Given the description of an element on the screen output the (x, y) to click on. 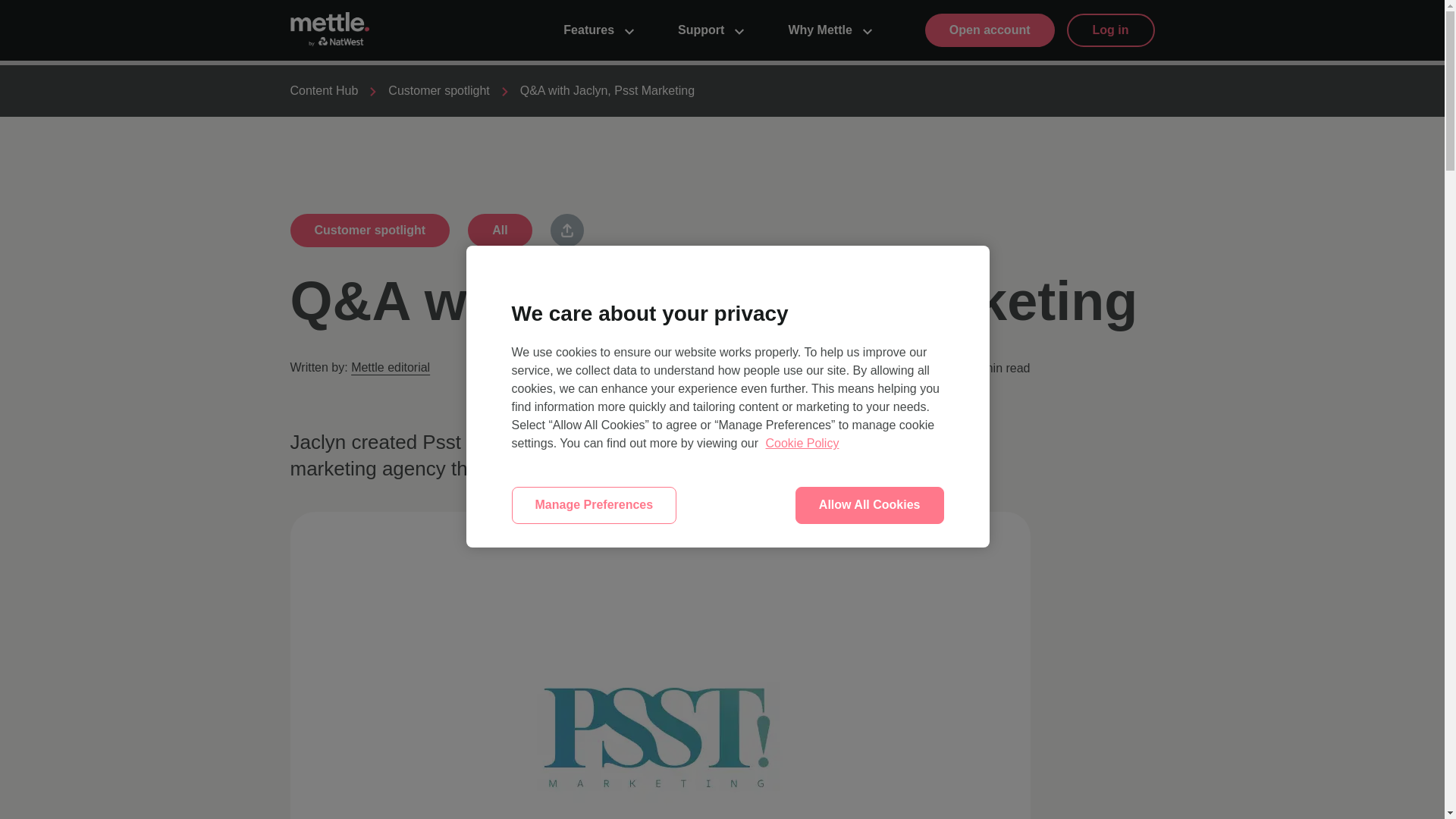
Mettle editorial (389, 367)
Support (710, 29)
Open account (989, 29)
Mettle editorial (389, 367)
Features (598, 29)
All (499, 230)
Content Hub (323, 90)
Customer spotlight (438, 90)
Why Mettle (830, 29)
Log in (1110, 29)
